Given the description of an element on the screen output the (x, y) to click on. 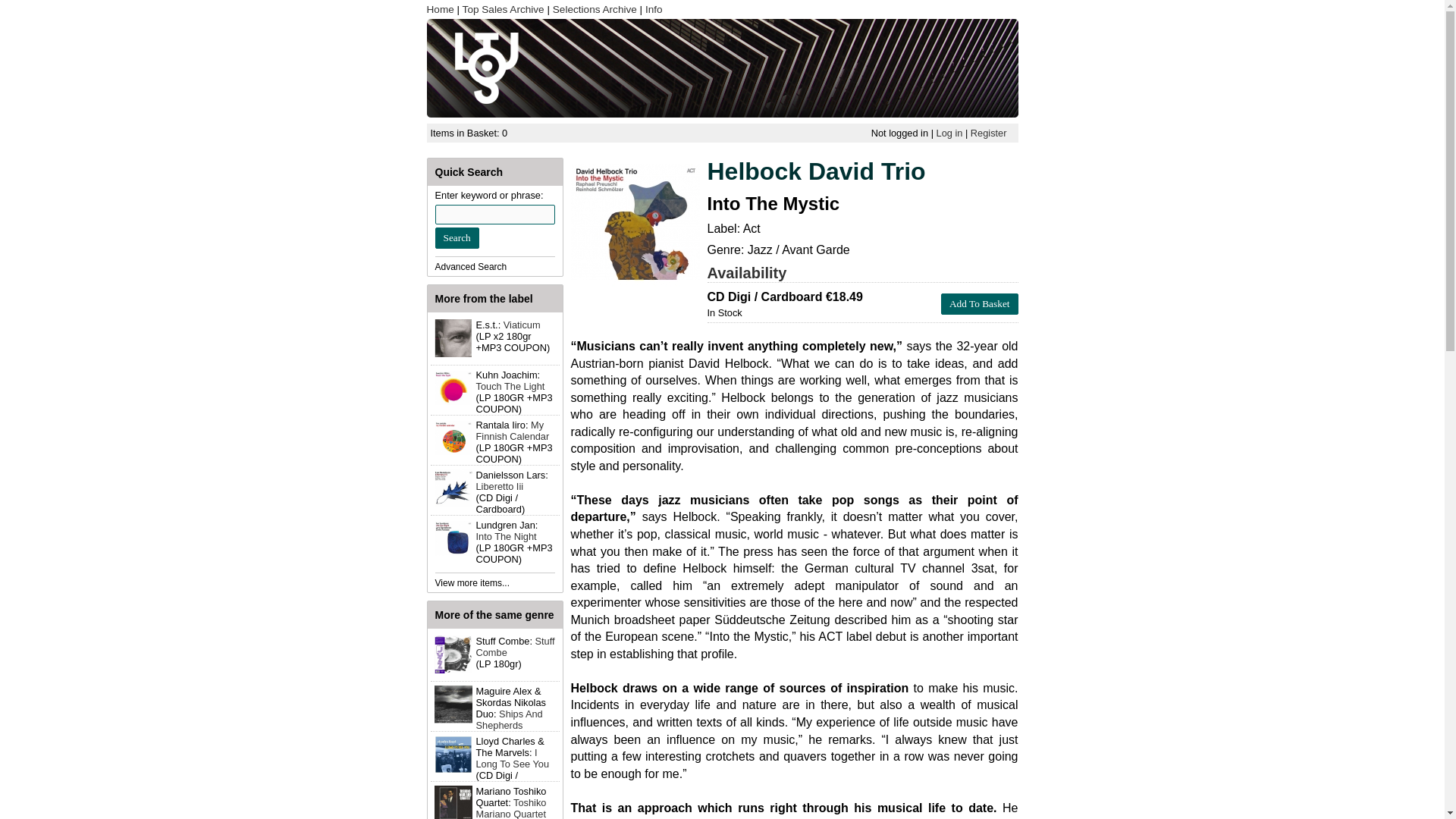
Viaticum (521, 324)
Log in (949, 132)
I Long To See You (513, 757)
Advanced Search (470, 266)
Selections Archive (595, 9)
Touch The Light (510, 386)
Stuff Combe (515, 646)
Search (457, 237)
My Finnish Calendar (513, 430)
Search (457, 237)
Toshiko Mariano Quartet (511, 807)
Into The Night (506, 536)
Ships And Shepherds (509, 719)
Top Sales Archive (503, 9)
Add To Basket (978, 303)
